Given the description of an element on the screen output the (x, y) to click on. 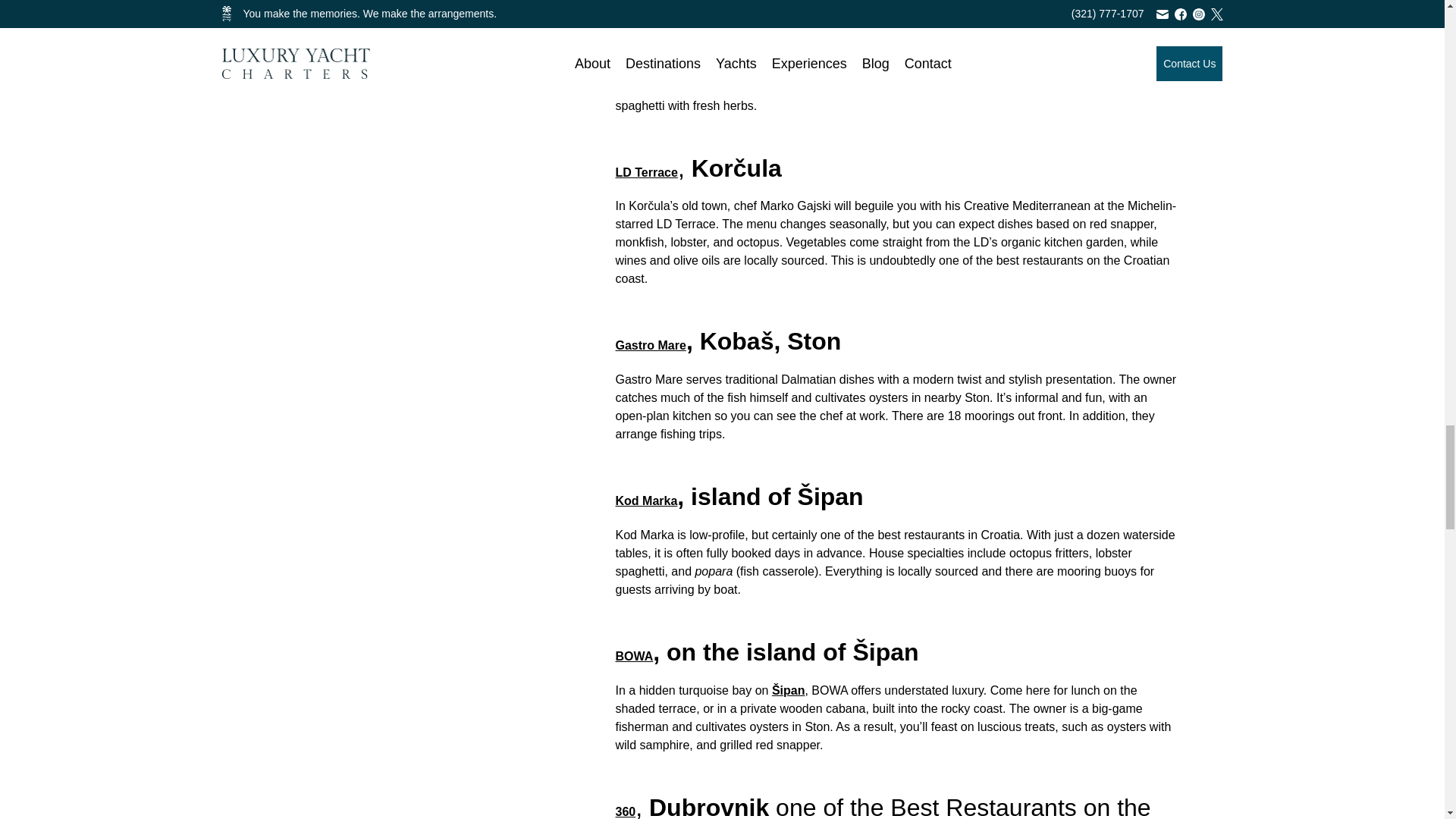
LD Terrace (646, 172)
BOWA (634, 656)
Kod Marka (646, 500)
Gastro Mare (650, 345)
Triton (632, 16)
360 (625, 811)
